Given the description of an element on the screen output the (x, y) to click on. 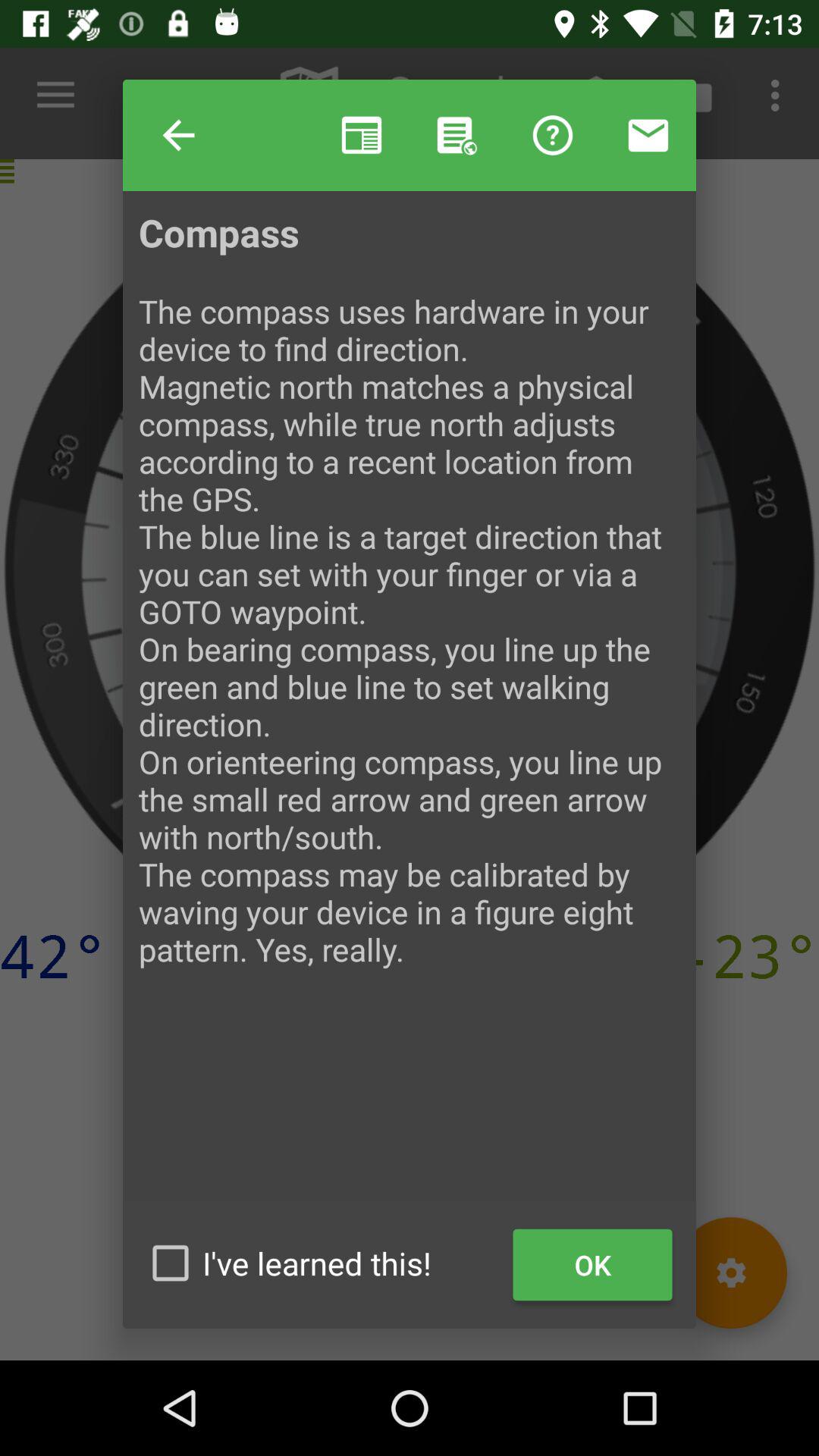
select the item next to help item (361, 135)
